Given the description of an element on the screen output the (x, y) to click on. 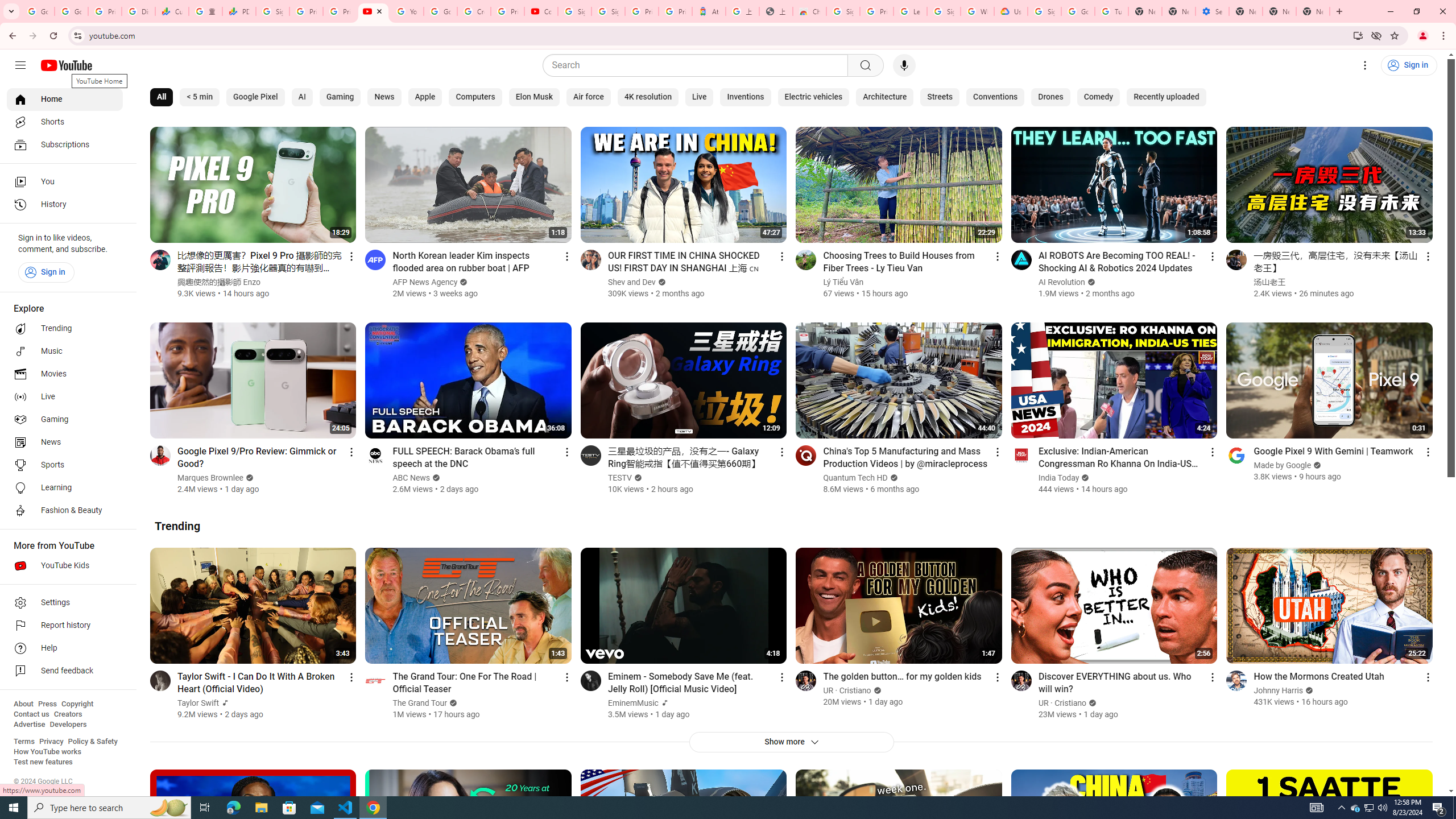
Press (46, 703)
Developers (68, 724)
Search with your voice (903, 65)
Advertise (29, 724)
Send feedback (64, 671)
Elon Musk (533, 97)
Shorts (64, 121)
YouTube Kids (64, 565)
Gaming (339, 97)
Fashion & Beauty (64, 510)
